Given the description of an element on the screen output the (x, y) to click on. 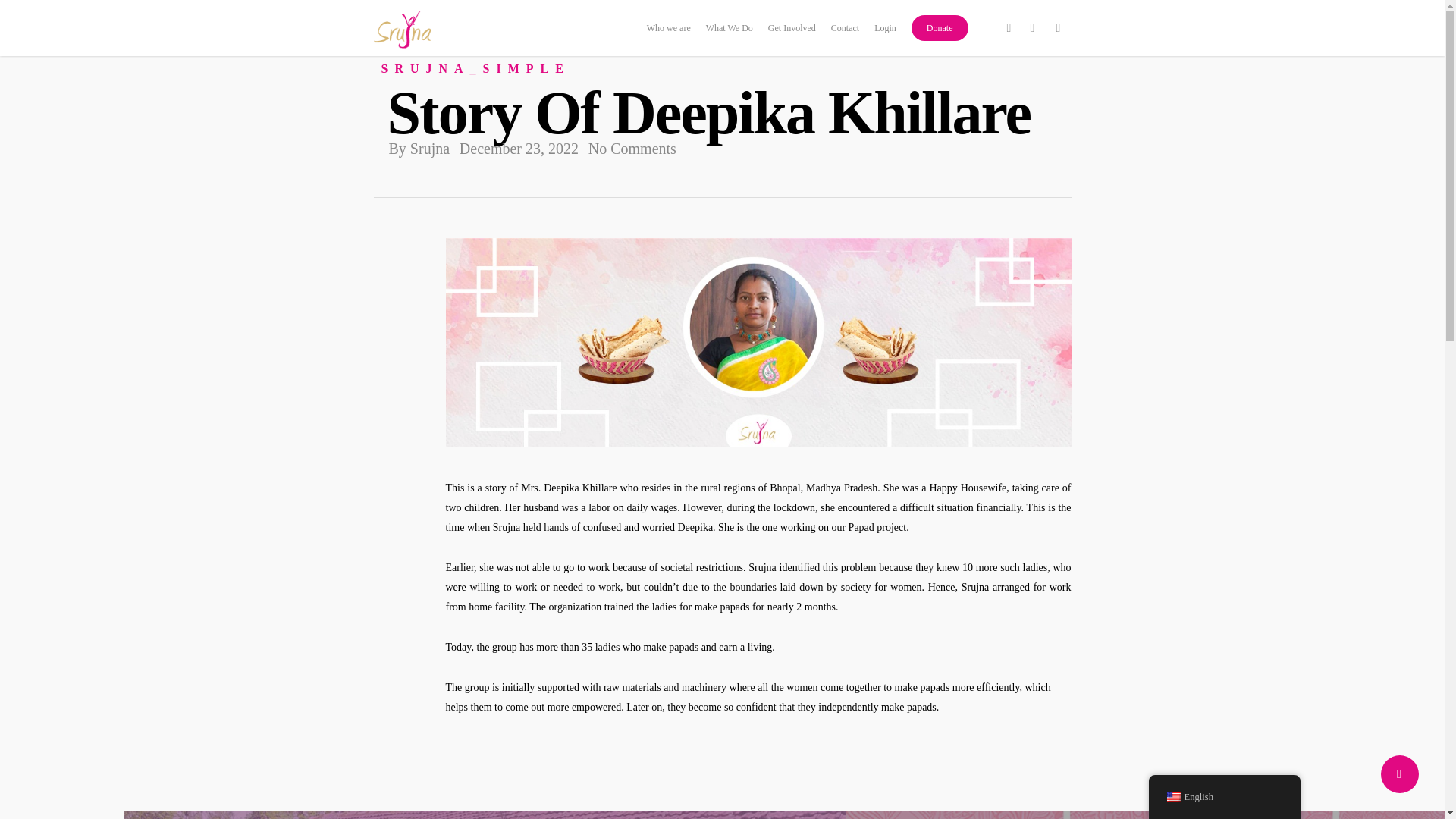
Posts by Srujna (429, 148)
Donate (939, 33)
What We Do (729, 33)
Who we are (668, 33)
Srujna (429, 148)
English (1172, 796)
Get Involved (791, 33)
No Comments (632, 148)
